Given the description of an element on the screen output the (x, y) to click on. 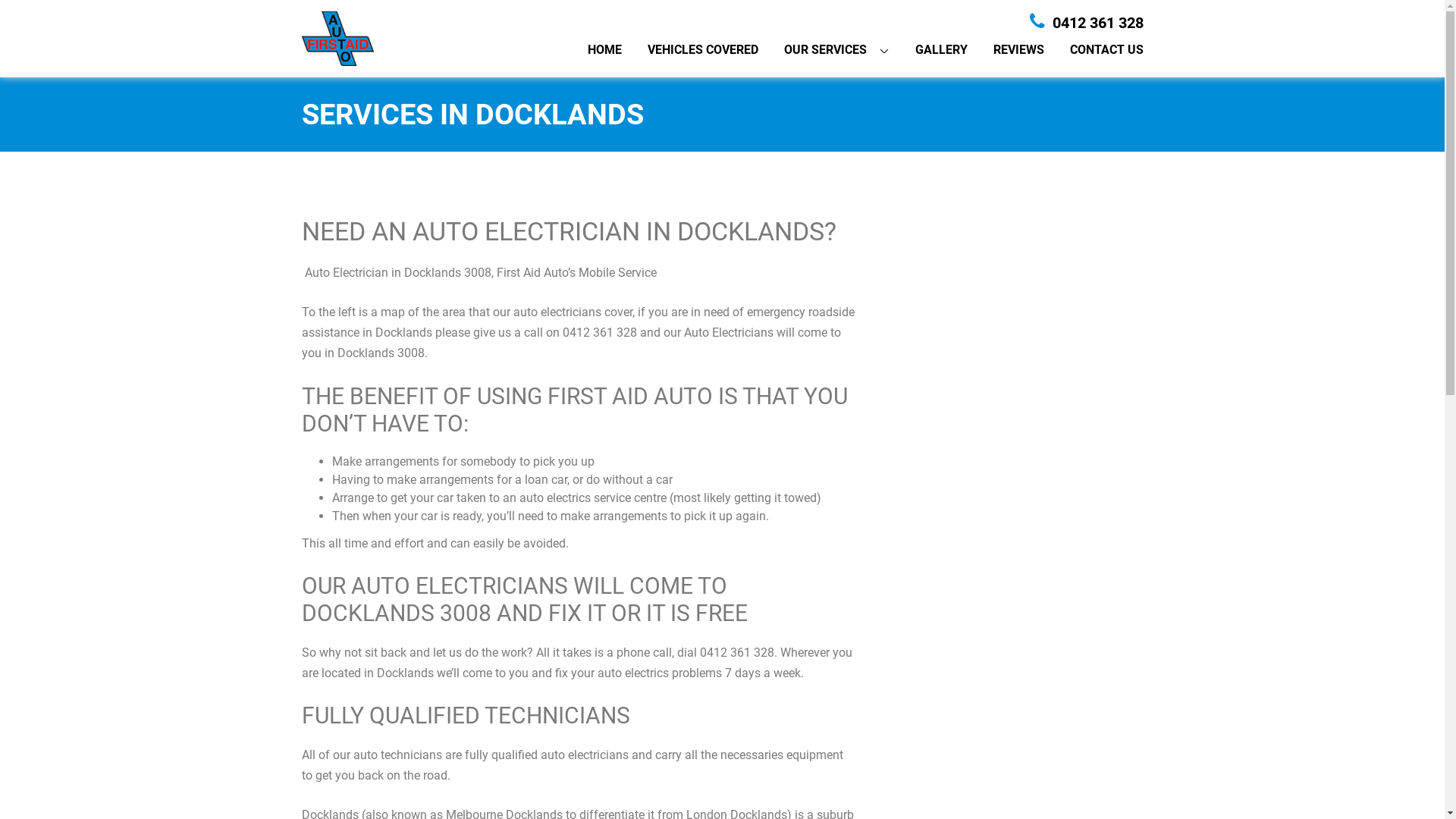
VEHICLES COVERED Element type: text (702, 49)
REVIEWS Element type: text (1018, 49)
GALLERY Element type: text (940, 49)
HOME Element type: text (603, 49)
CONTACT US Element type: text (1105, 49)
OUR SERVICES Element type: text (825, 49)
0412 361 328 Element type: text (1086, 22)
